Given the description of an element on the screen output the (x, y) to click on. 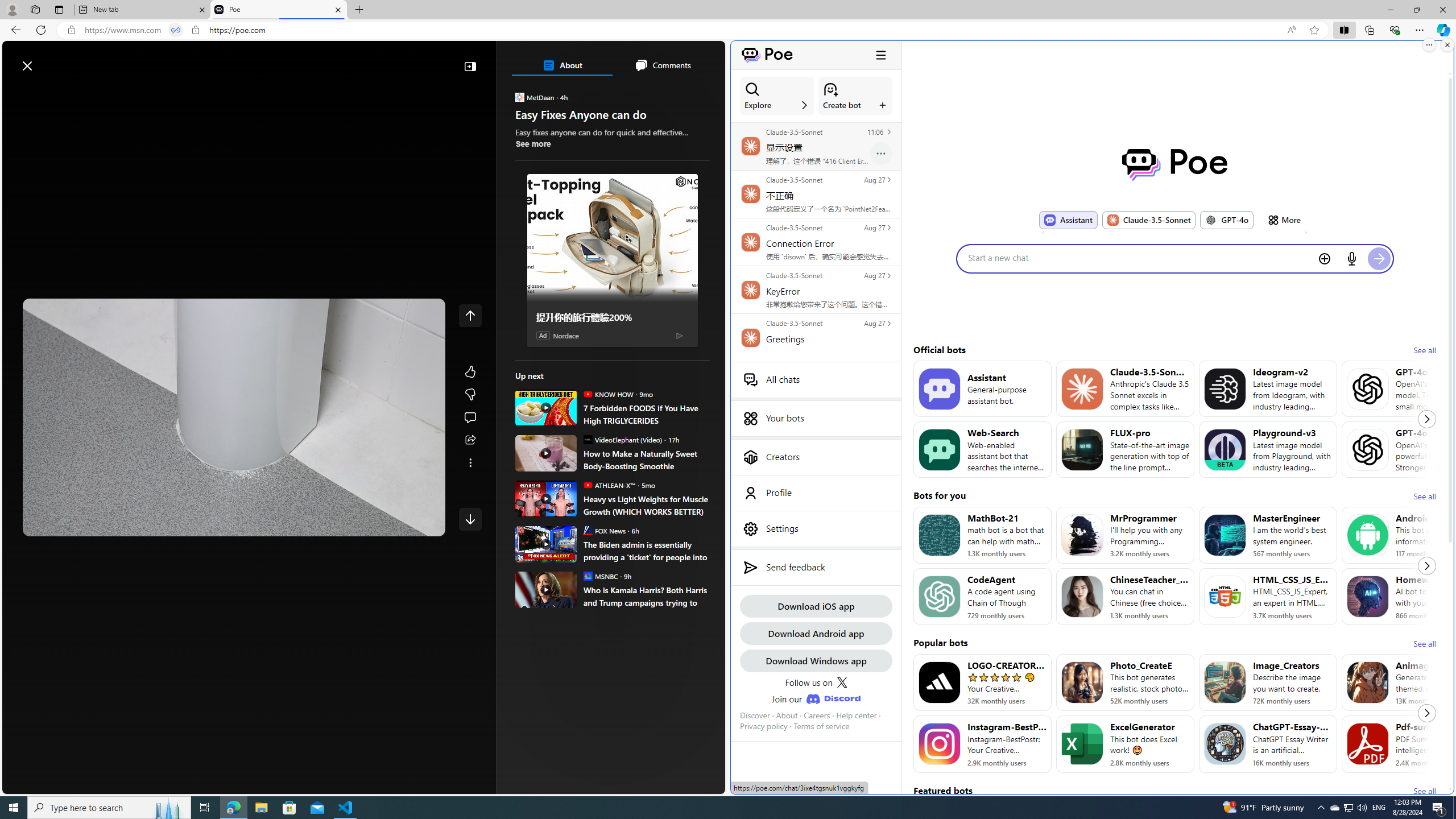
Close split screen. (1447, 45)
Bot image for ChatGPT-Essay-Writer (1224, 743)
FOX News (587, 529)
Follow us on (815, 682)
Next (1426, 713)
More actions (880, 152)
Seek Back (62, 523)
